Given the description of an element on the screen output the (x, y) to click on. 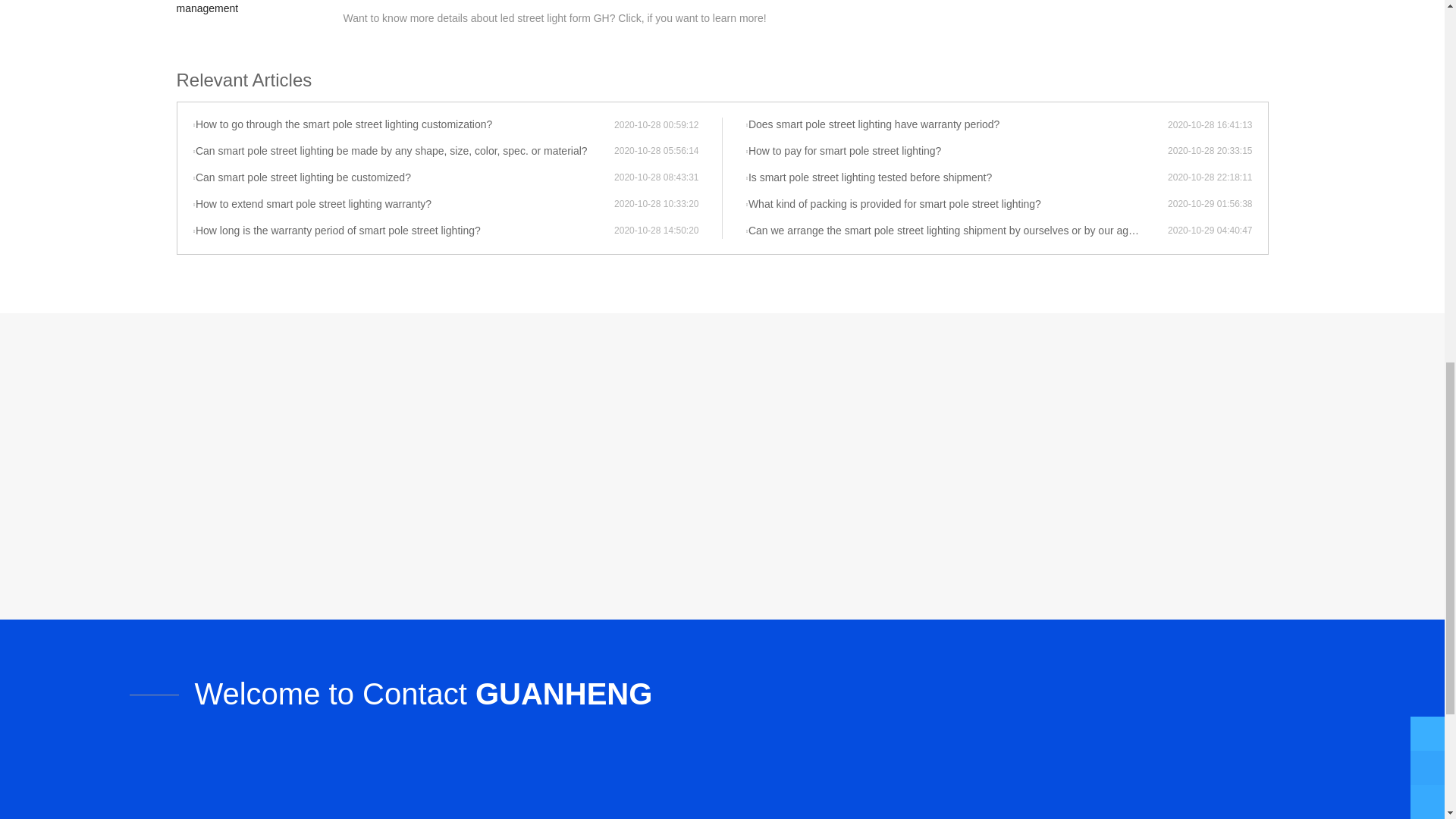
Can smart pole street lighting be customized? (403, 177)
Is smart pole street lighting tested before shipment? (955, 177)
How to pay for smart pole street lighting? (955, 151)
Does smart pole street lighting have warranty period? (955, 124)
How to extend smart pole street lighting warranty? (403, 204)
